Given the description of an element on the screen output the (x, y) to click on. 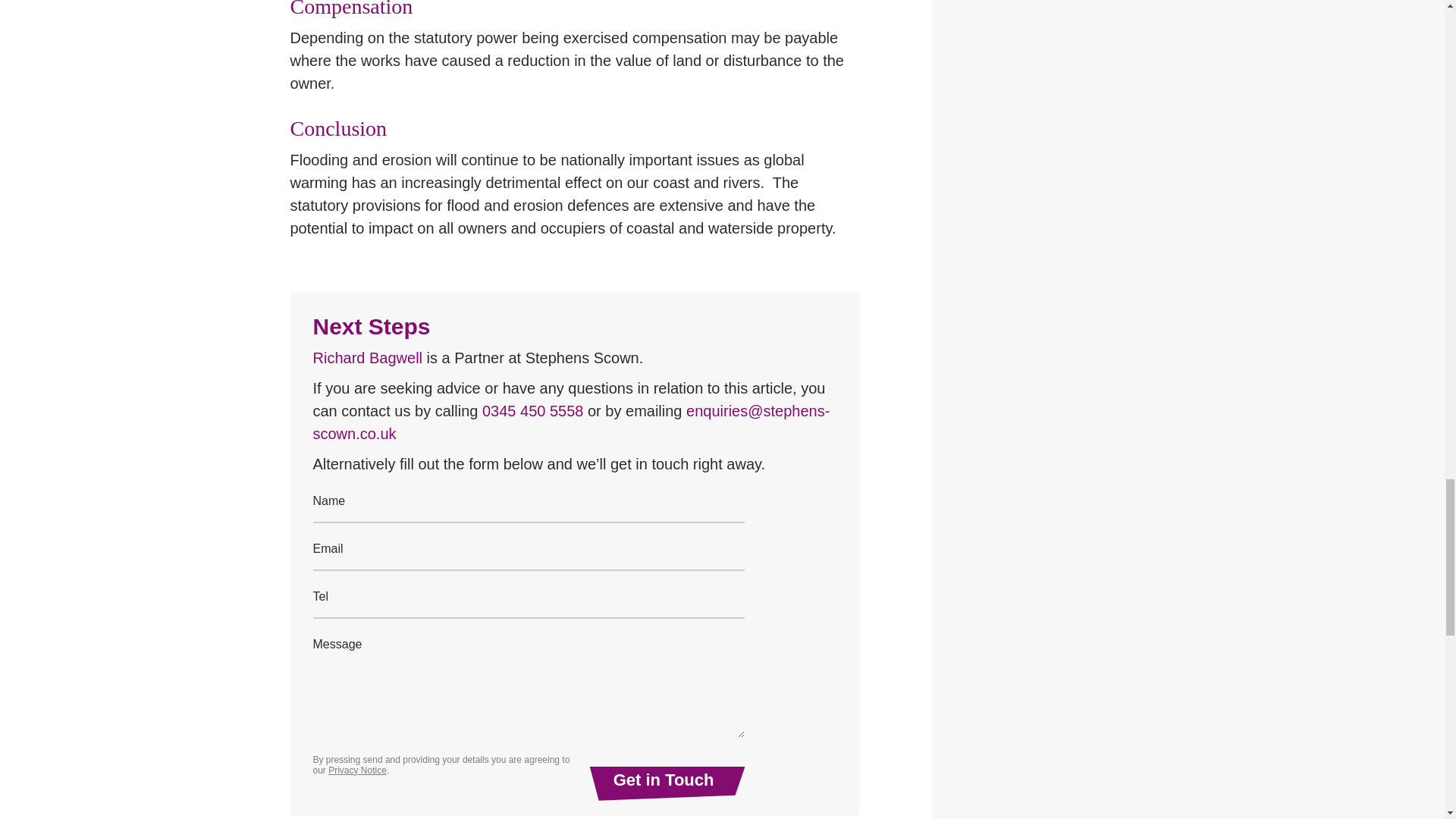
Get in Touch (667, 783)
